Given the description of an element on the screen output the (x, y) to click on. 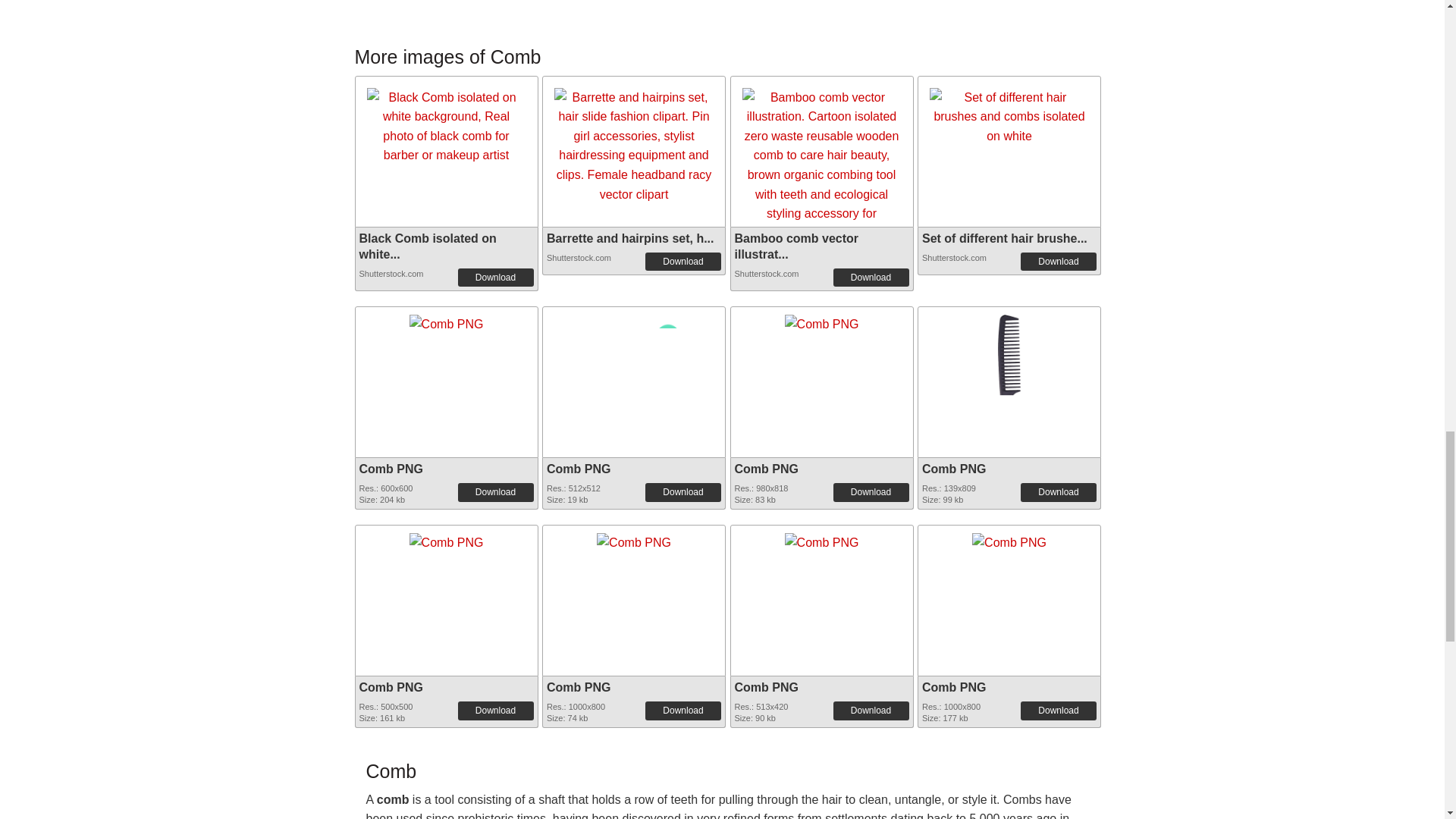
Comb PNG (578, 468)
Download (496, 277)
Download (682, 492)
Comb PNG (821, 318)
Download (682, 261)
Download (496, 492)
Set of different hair brushe... (1004, 237)
Download (870, 277)
Barrette and hairpins set, h... (630, 237)
Comb PNG (446, 538)
Comb PNG (446, 320)
Black Comb isolated on white... (427, 246)
Comb PNG (633, 378)
